Given the description of an element on the screen output the (x, y) to click on. 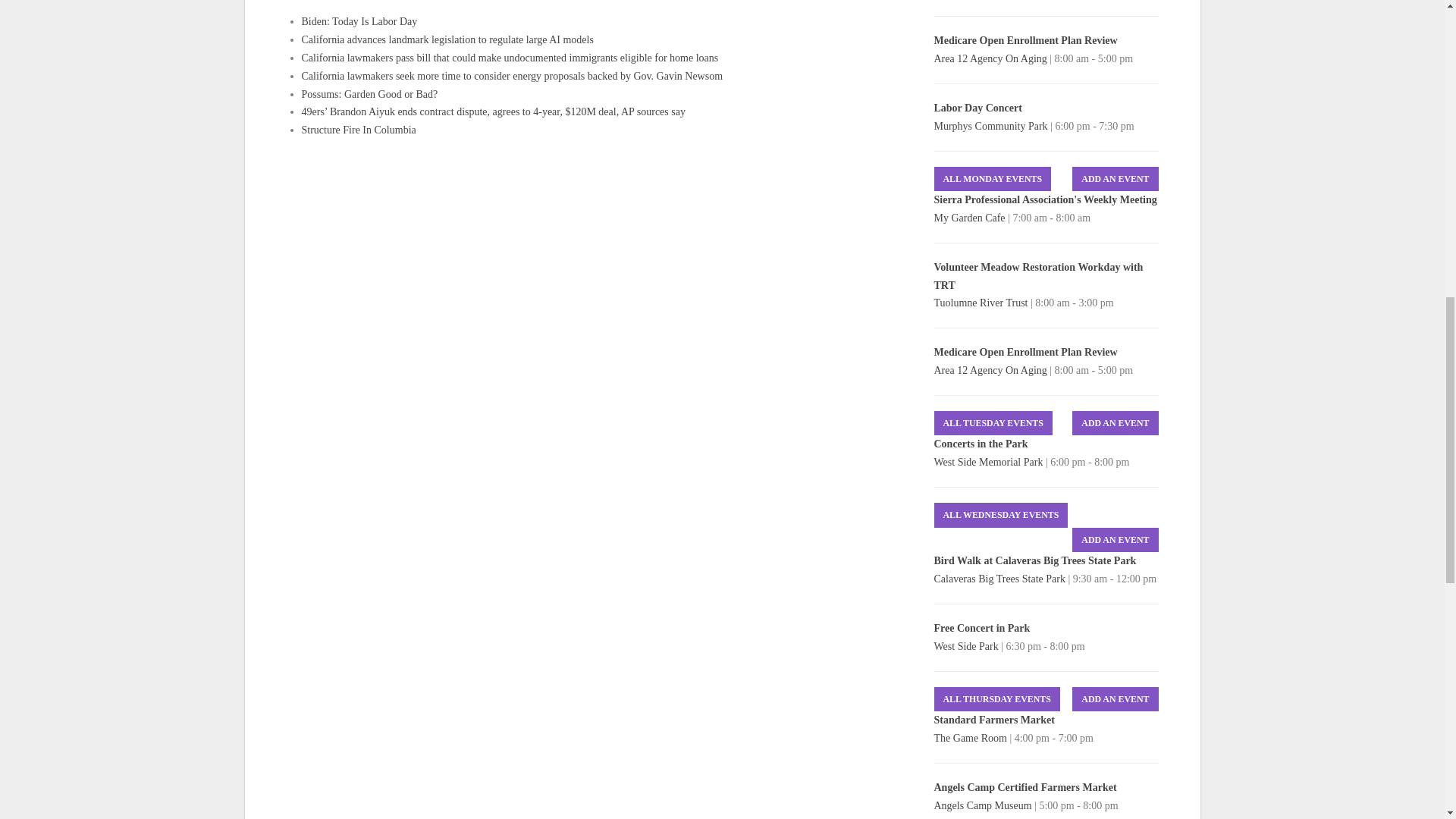
All Monday Events (992, 179)
All Thursday Events (996, 699)
Add An Event (1114, 179)
All Wednesday Events (1001, 514)
All Tuesday Events (993, 423)
Add An Event (1114, 539)
Add An Event (1114, 699)
Add An Event (1114, 423)
